Given the description of an element on the screen output the (x, y) to click on. 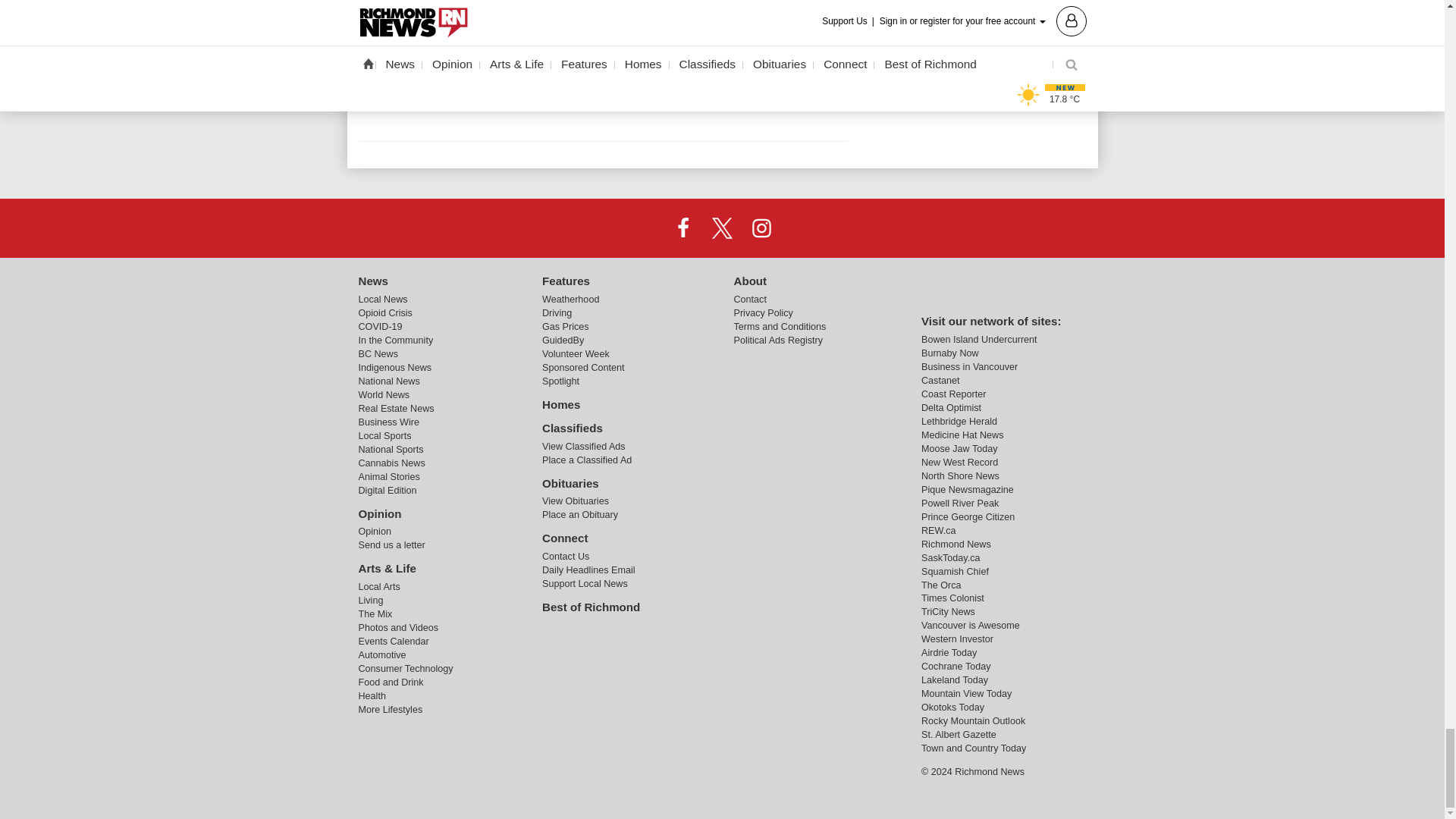
Facebook (683, 227)
Instagram (760, 227)
X (721, 227)
